Given the description of an element on the screen output the (x, y) to click on. 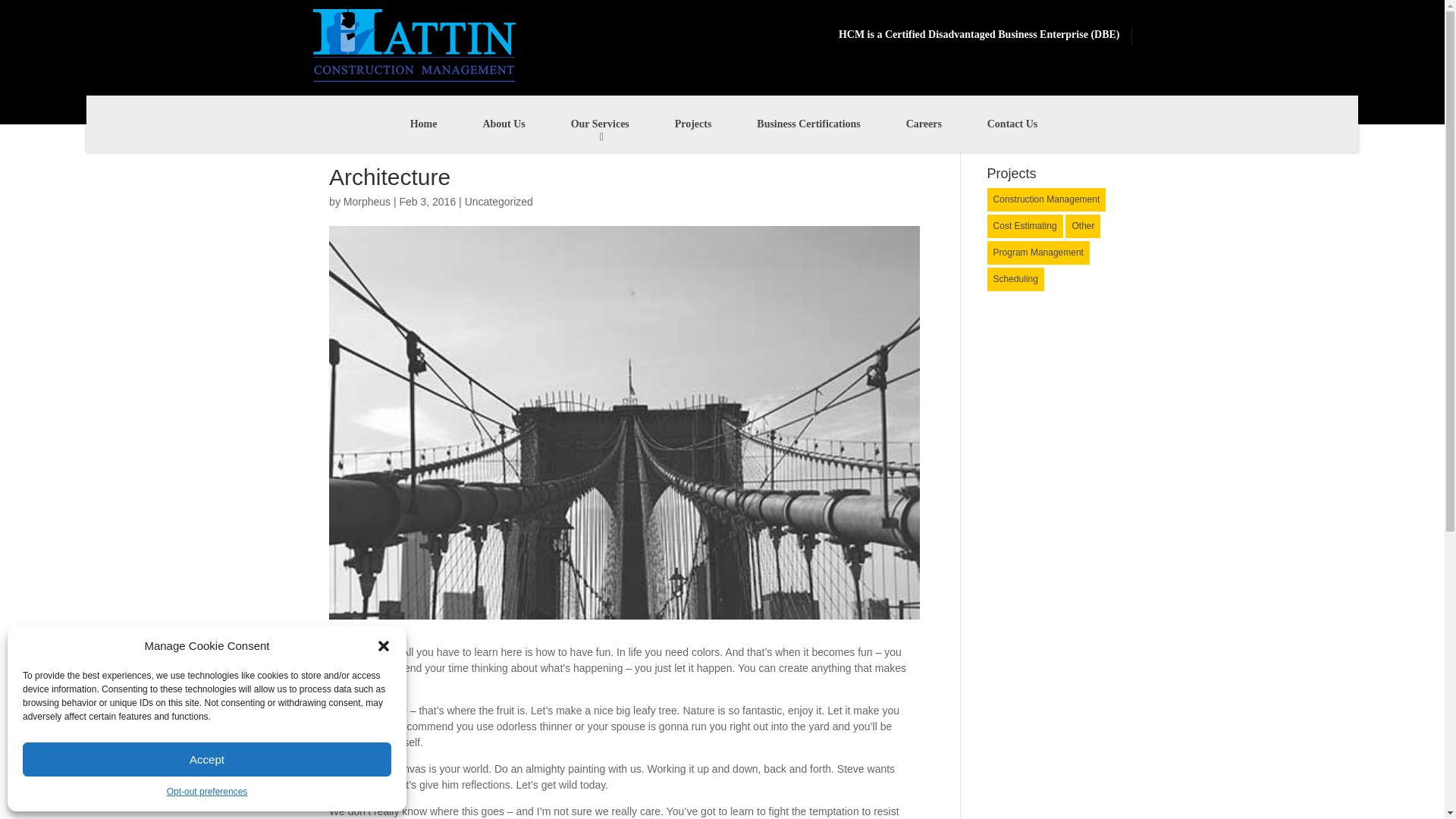
Contact Us (1012, 123)
Projects (693, 123)
About Us (503, 123)
Uncategorized (498, 201)
Business Certifications (808, 123)
Construction Management (1046, 199)
Program Management (1038, 252)
Our Services (600, 123)
Opt-out preferences (207, 791)
Home (423, 123)
